Given the description of an element on the screen output the (x, y) to click on. 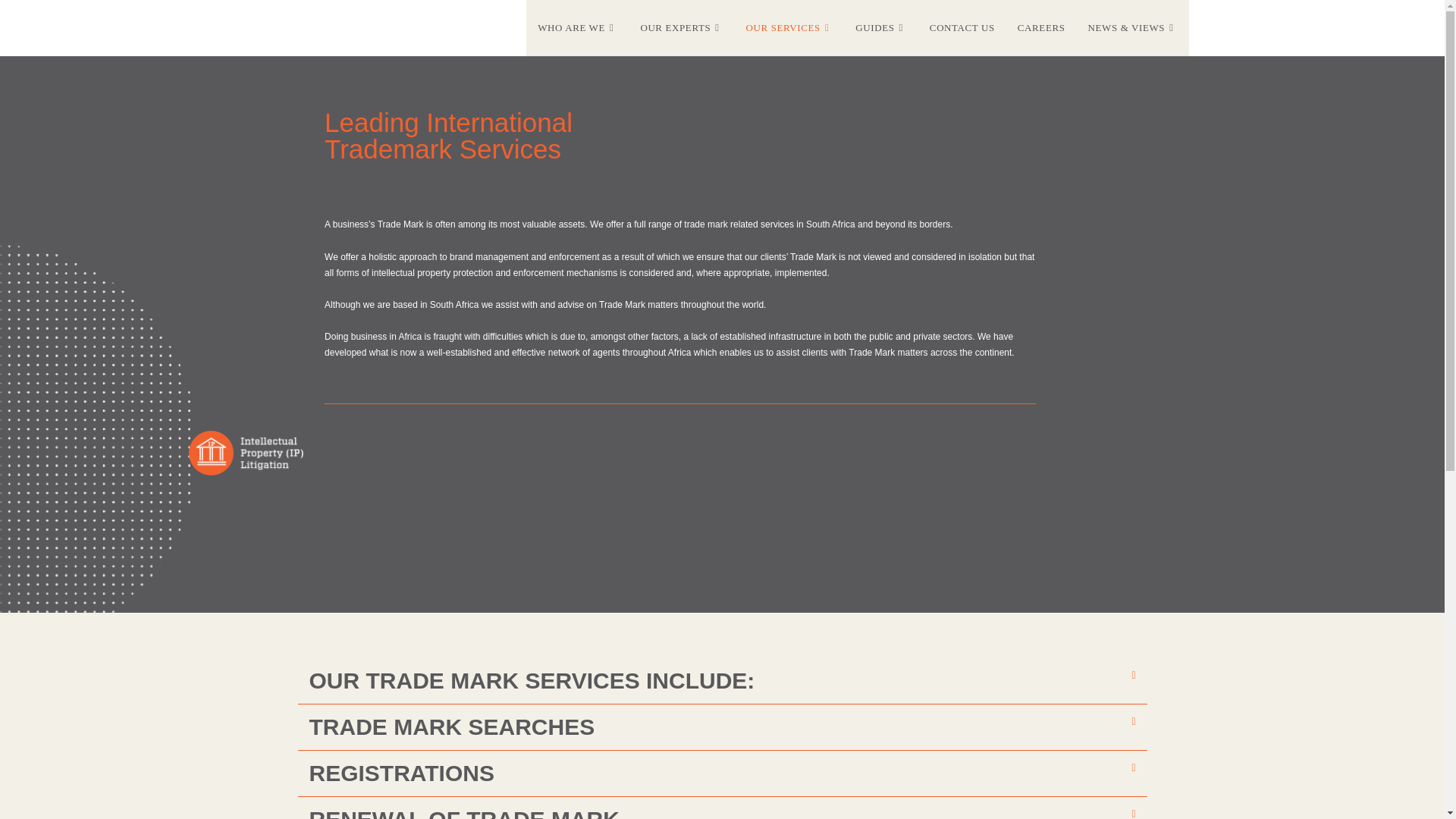
WHO ARE WE (576, 28)
CAREERS (1041, 28)
GUIDES (881, 28)
OUR SERVICES (789, 28)
CONTACT US (962, 28)
OUR EXPERTS (680, 28)
